Given the description of an element on the screen output the (x, y) to click on. 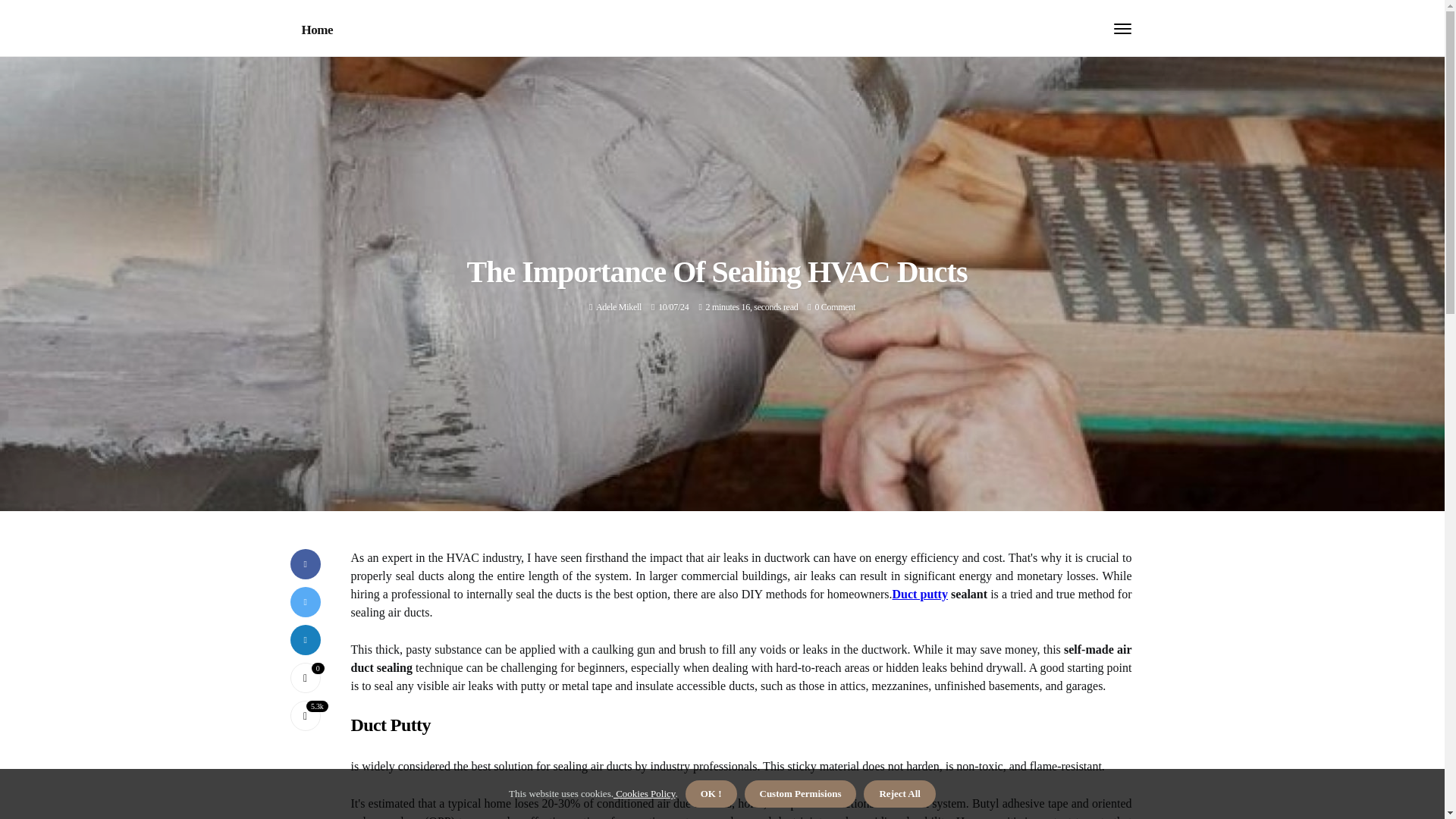
0 (304, 677)
Adele Mikell (618, 307)
Posts by Adele Mikell (618, 307)
0 Comment (834, 307)
Home (317, 30)
Like (304, 677)
Duct putty (919, 594)
